Given the description of an element on the screen output the (x, y) to click on. 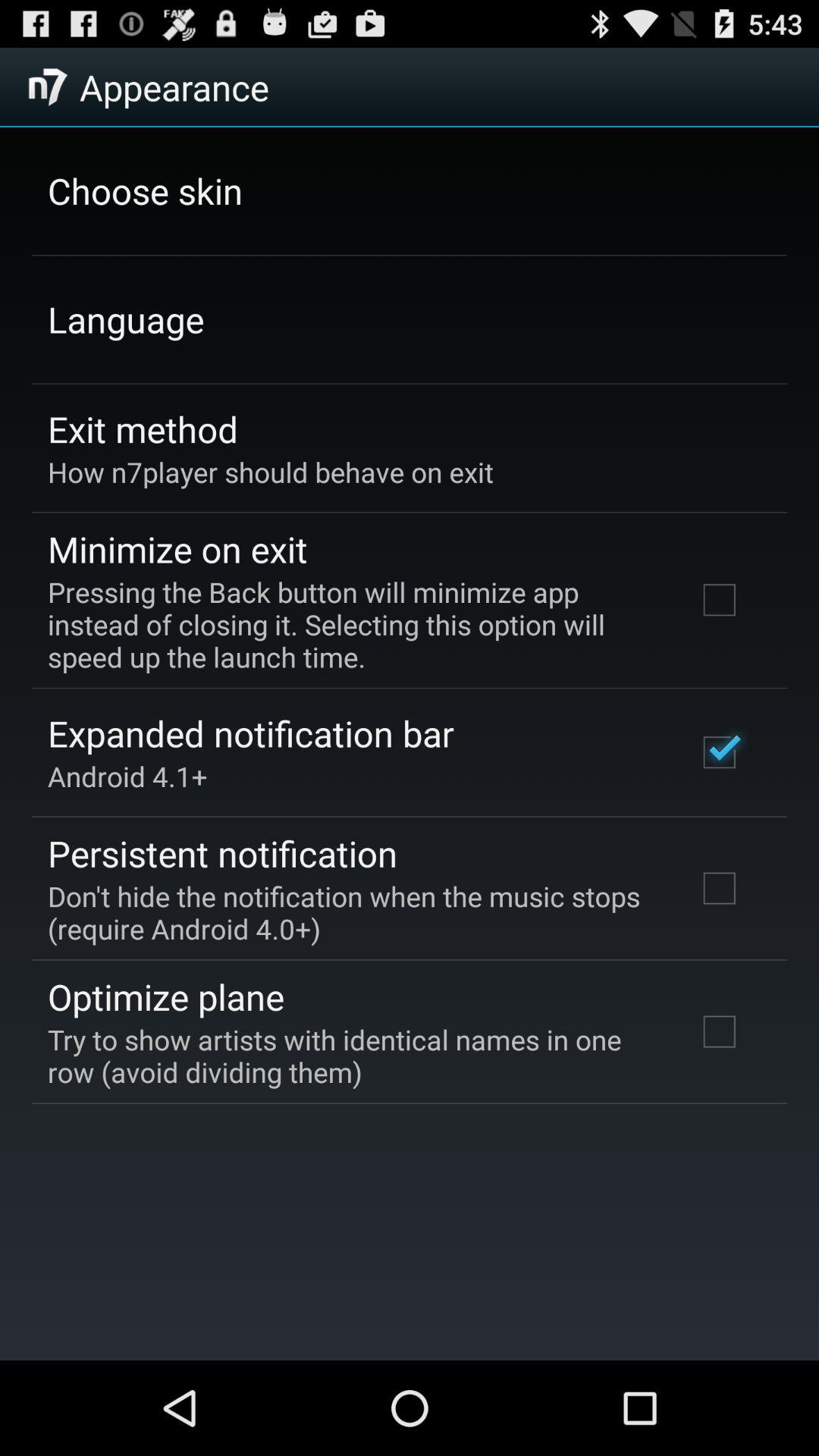
tap the item above android 4.1+ (250, 733)
